Given the description of an element on the screen output the (x, y) to click on. 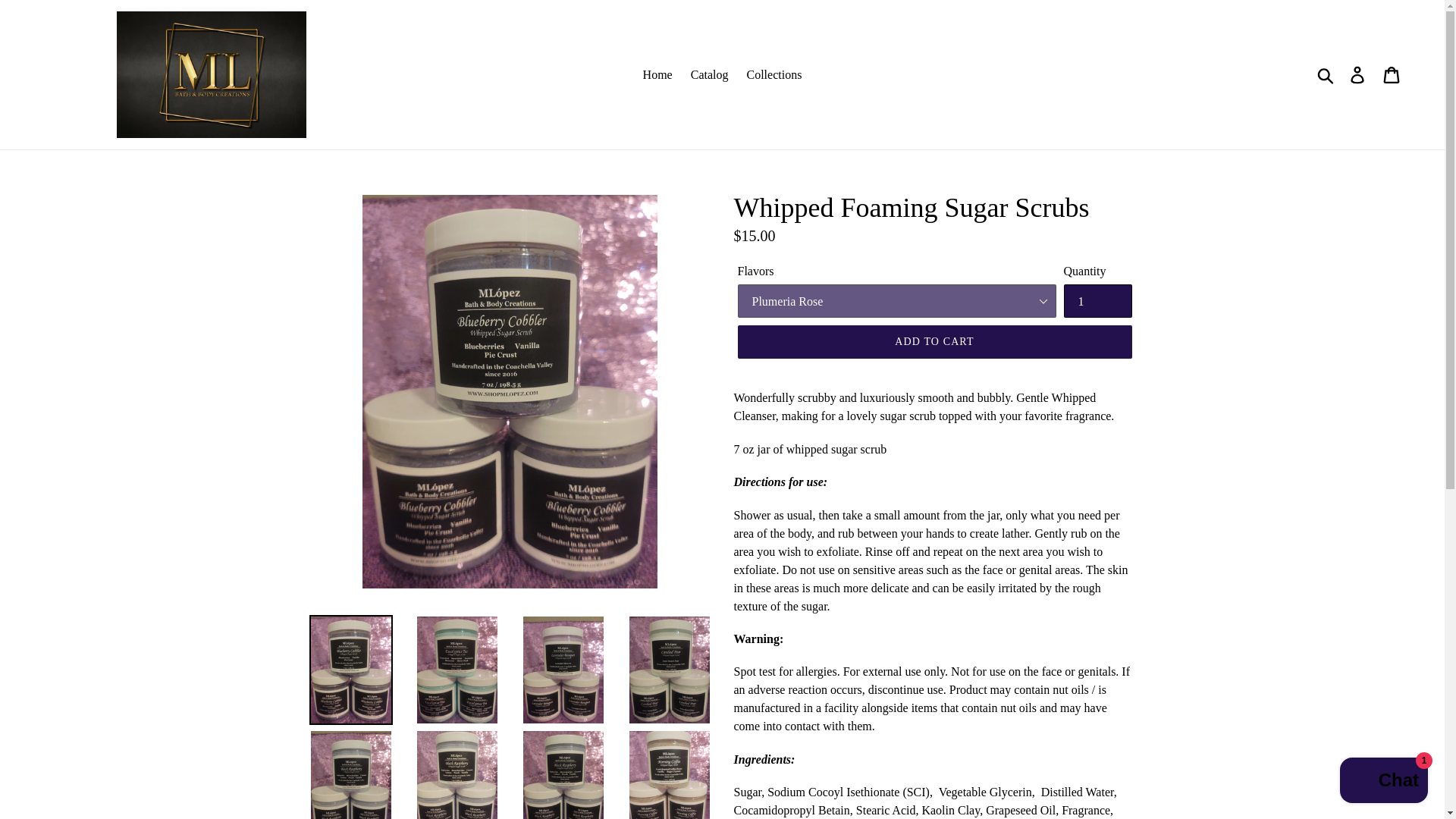
Log in (1357, 74)
Catalog (709, 74)
1 (1096, 300)
Home (656, 74)
ADD TO CART (933, 341)
Submit (1326, 73)
Shopify online store chat (1383, 781)
Cart (1392, 74)
Collections (773, 74)
